Given the description of an element on the screen output the (x, y) to click on. 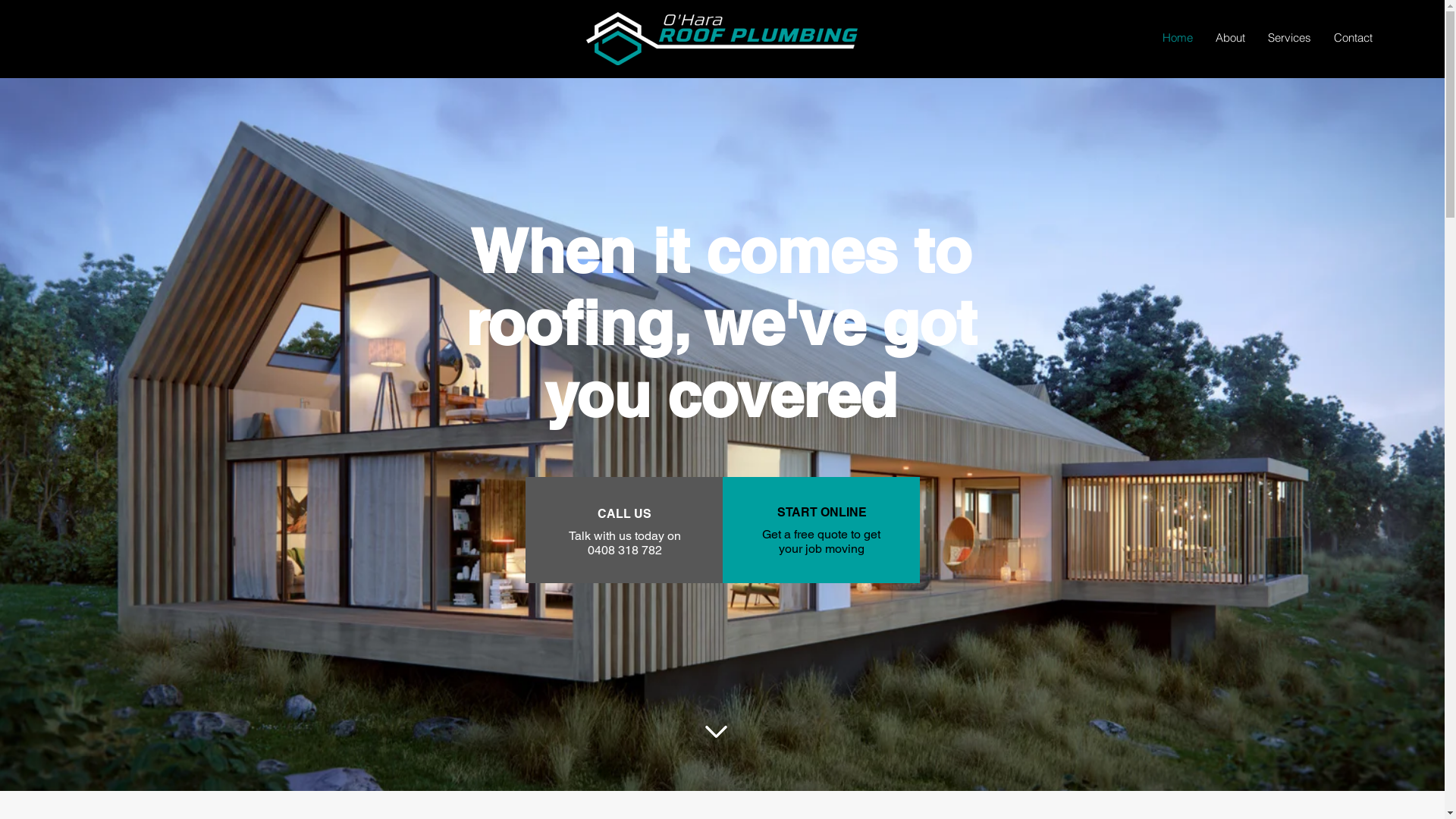
About Element type: text (1230, 37)
Get a free quote to get your job moving Element type: text (821, 541)
Contact Element type: text (1352, 37)
START ONLINE Element type: text (821, 512)
Home Element type: text (1177, 37)
0408 318 782 Element type: text (623, 549)
